Given the description of an element on the screen output the (x, y) to click on. 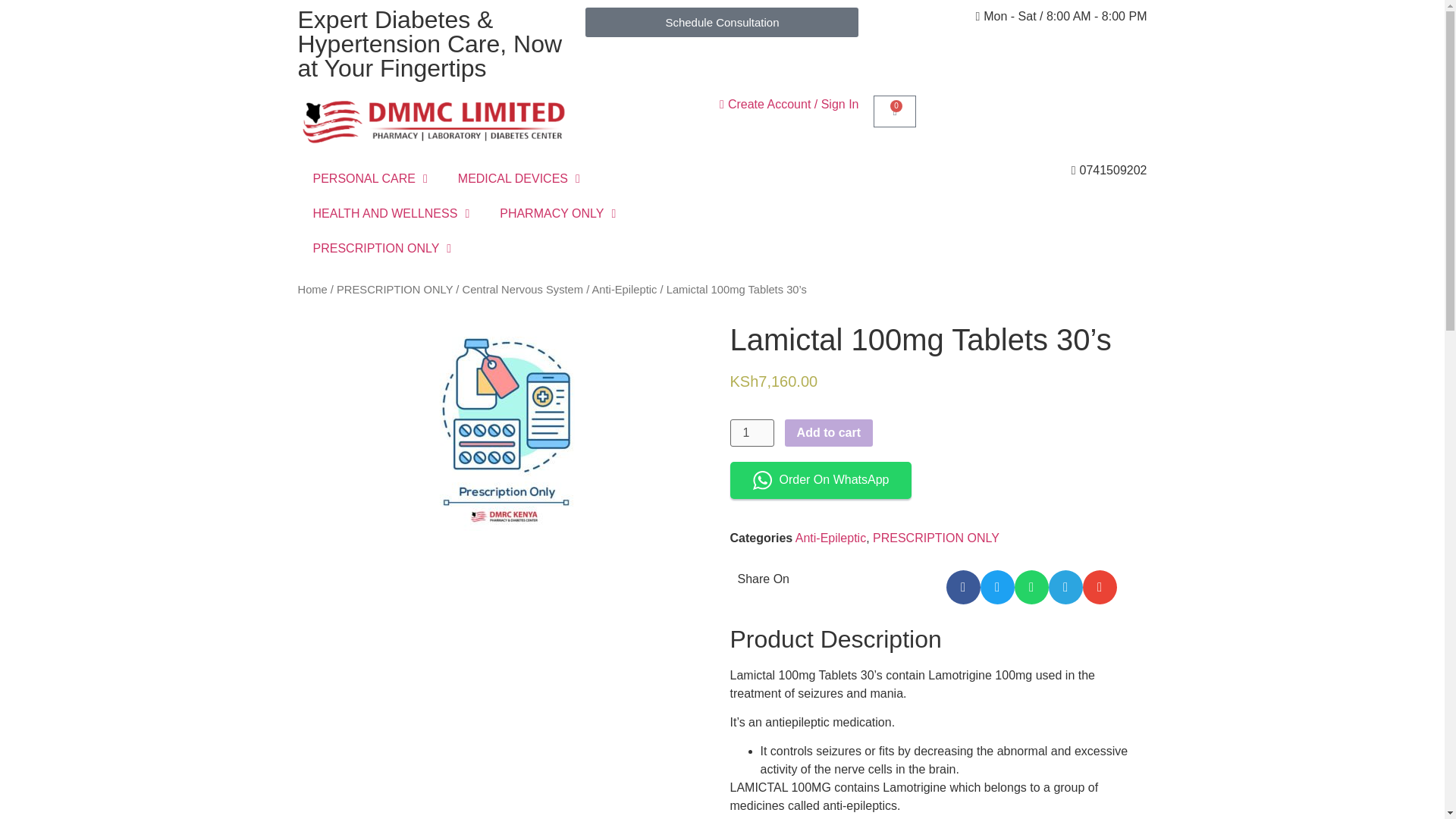
1 (751, 432)
PERSONAL CARE (369, 178)
Schedule Consultation (722, 21)
0 (894, 111)
